Given the description of an element on the screen output the (x, y) to click on. 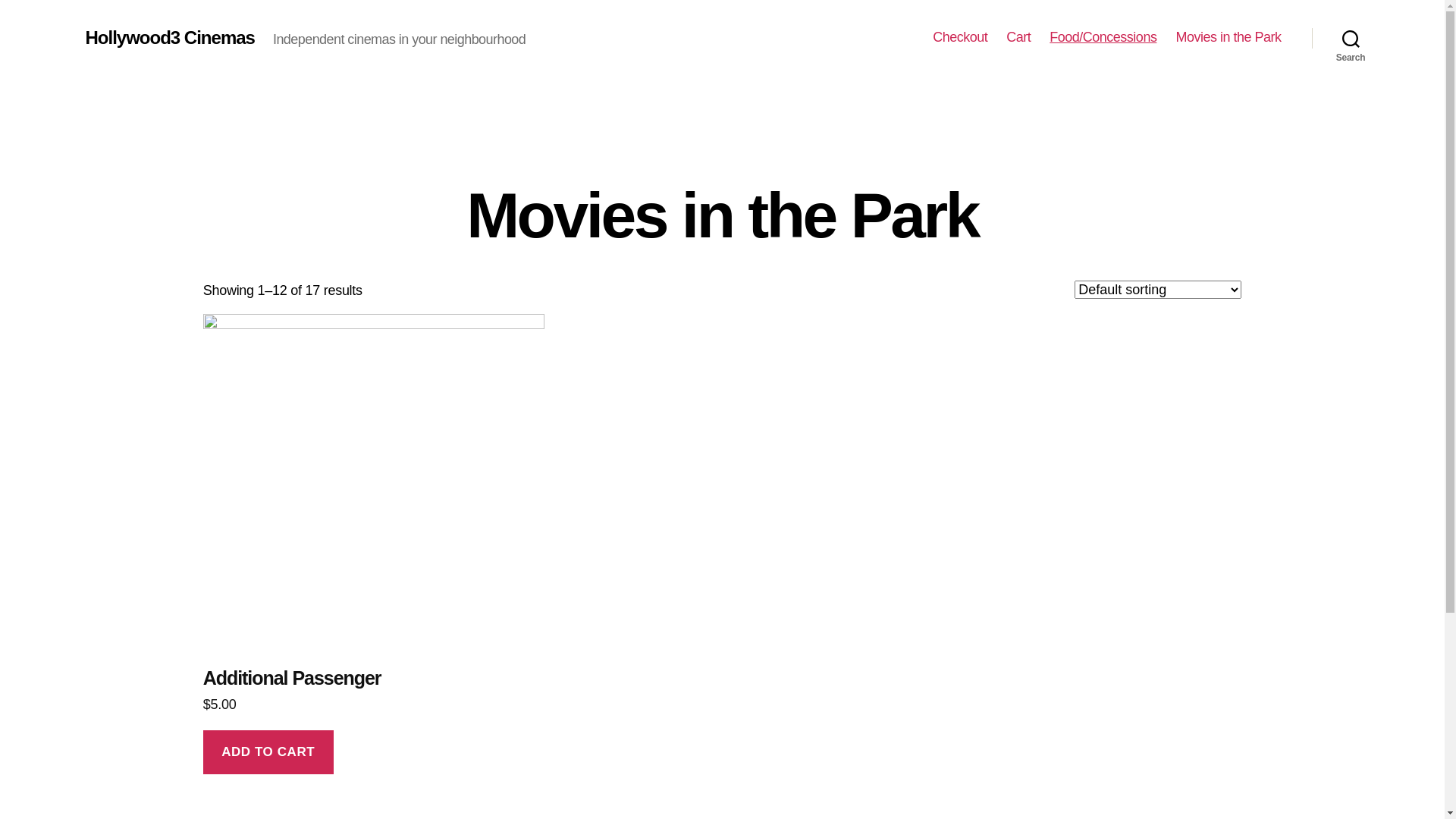
Food/Concessions Element type: text (1102, 37)
Cart Element type: text (1018, 37)
Search Element type: text (1350, 37)
ADD TO CART Element type: text (268, 752)
Additional Passenger
$5.00 Element type: text (373, 521)
Checkout Element type: text (959, 37)
Movies in the Park Element type: text (1227, 37)
Hollywood3 Cinemas Element type: text (169, 37)
